Given the description of an element on the screen output the (x, y) to click on. 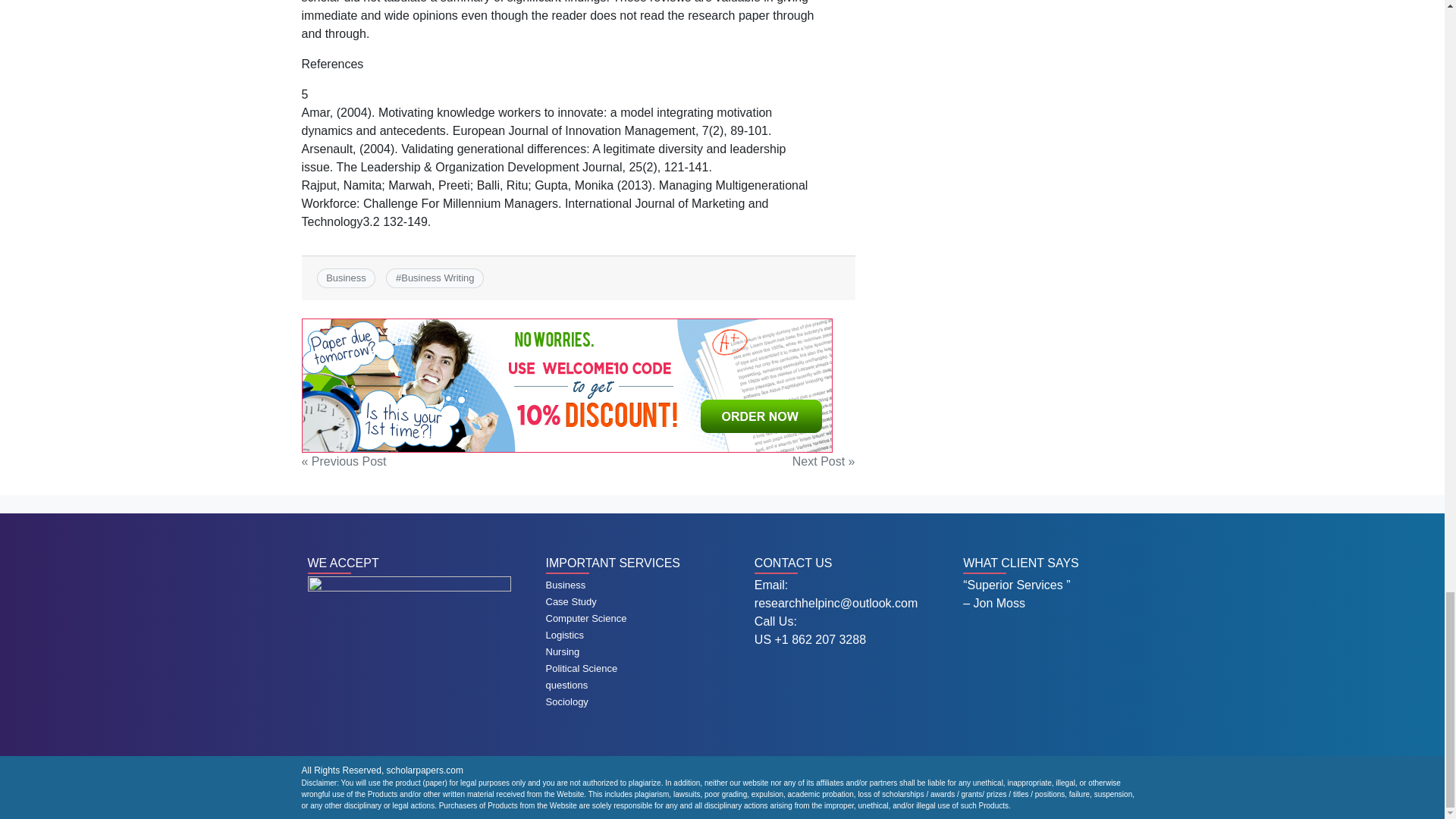
Case Study (571, 601)
Sociology (567, 701)
questions (567, 685)
Nursing (562, 651)
Business (346, 277)
Business Writing (437, 277)
Logistics (565, 634)
Business (566, 584)
Computer Science (586, 618)
Political Science (581, 668)
